Given the description of an element on the screen output the (x, y) to click on. 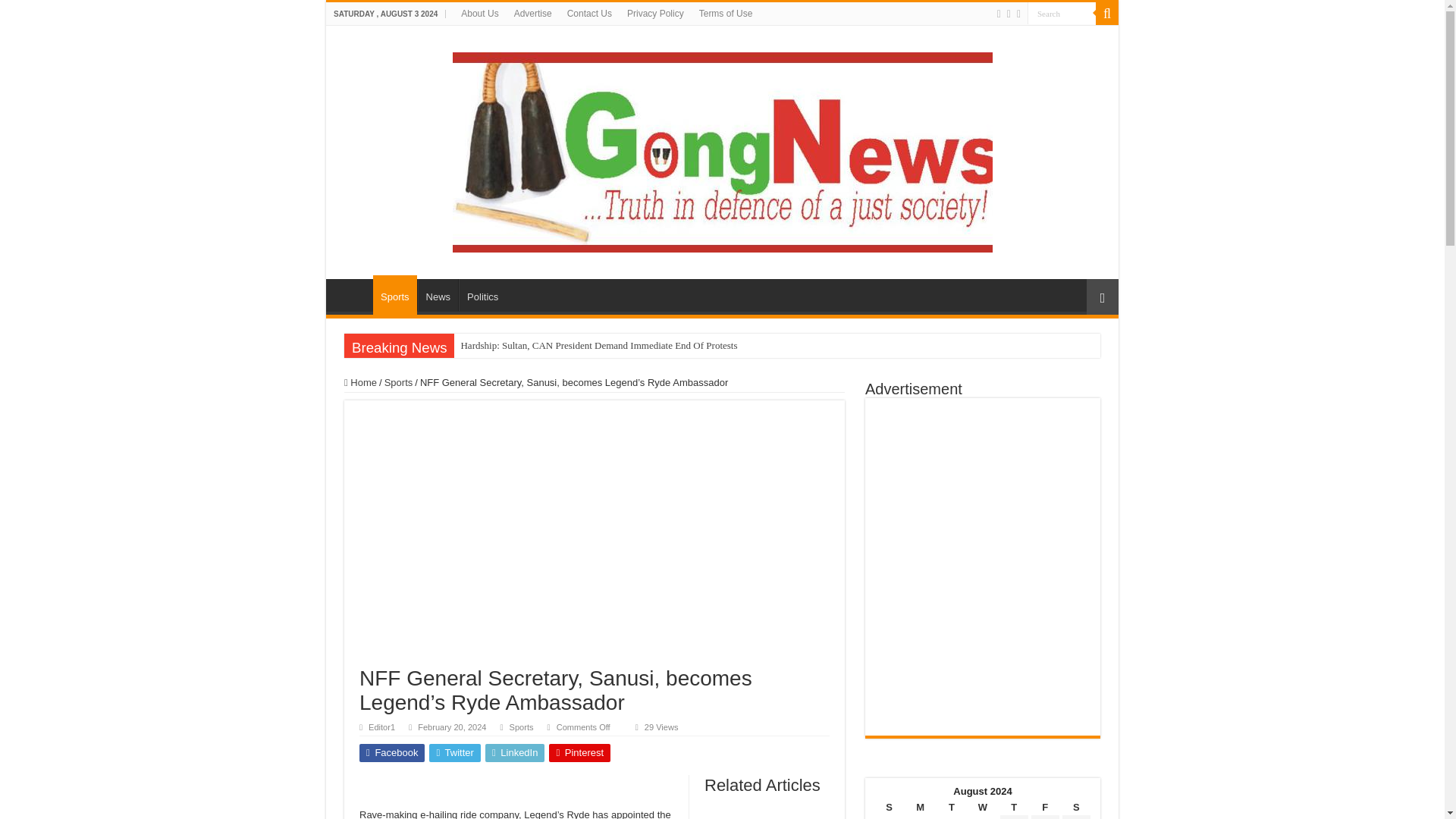
Search (1061, 13)
Advertise (532, 13)
Sports (398, 382)
Twitter (454, 752)
Facebook (392, 752)
Politics (481, 295)
Search (1061, 13)
Home (352, 295)
News (437, 295)
GongNews (721, 149)
Sports (521, 727)
Random Article (1102, 296)
Home (360, 382)
Terms of Use (725, 13)
